Given the description of an element on the screen output the (x, y) to click on. 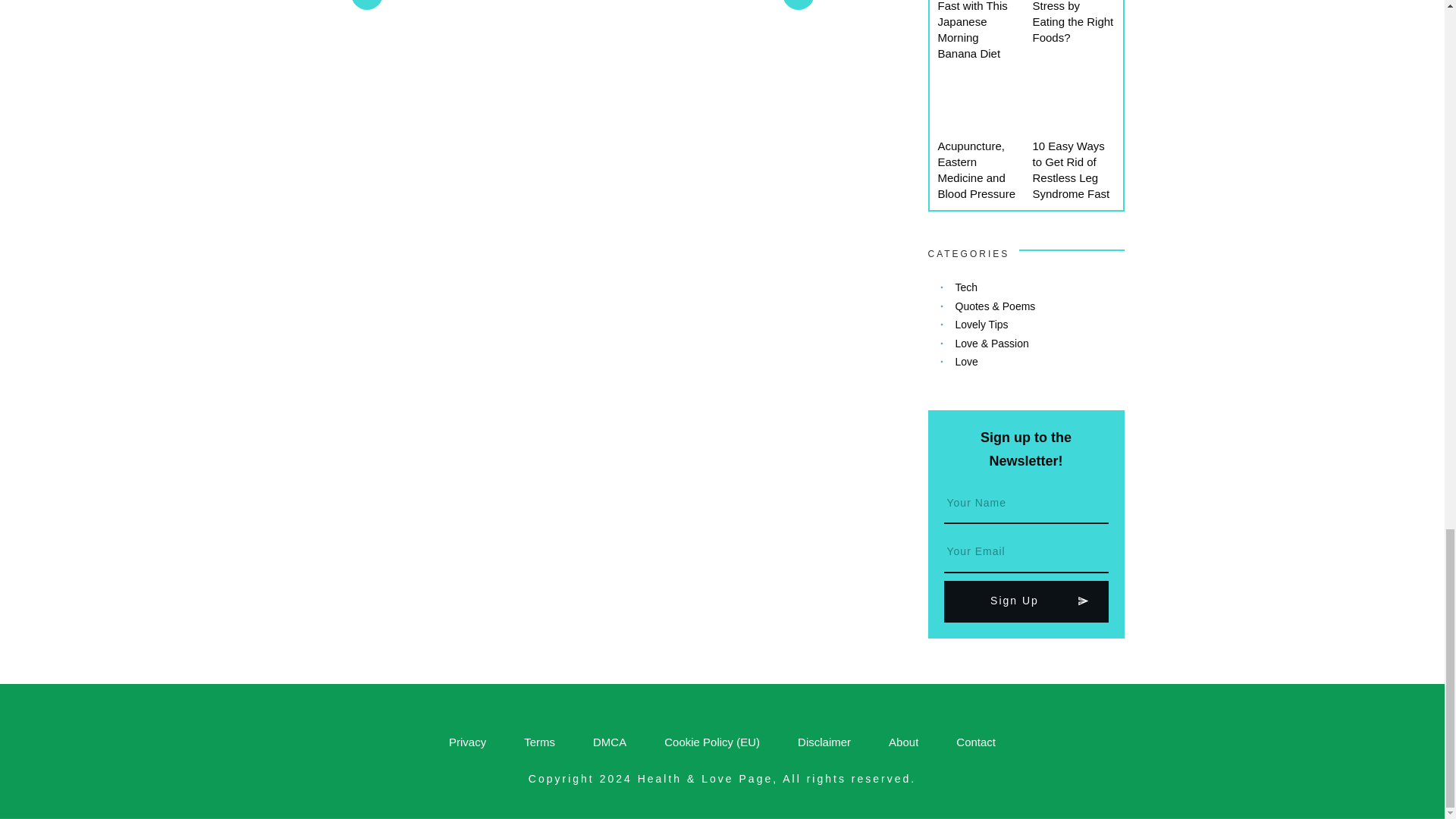
Acupuncture, Eastern Medicine and Blood Pressure (975, 169)
Lose Weight Fast with This Japanese Morning Banana Diet (972, 29)
How to Manage Stress by Eating the Right Foods? (1072, 22)
10 Easy Ways to Get Rid of Restless Leg Syndrome Fast (1070, 169)
Lose Weight Fast with This Japanese Morning Banana Diet (972, 29)
Previous (399, 4)
How to Manage Stress by Eating the Right Foods? (1072, 22)
Next (777, 4)
